Given the description of an element on the screen output the (x, y) to click on. 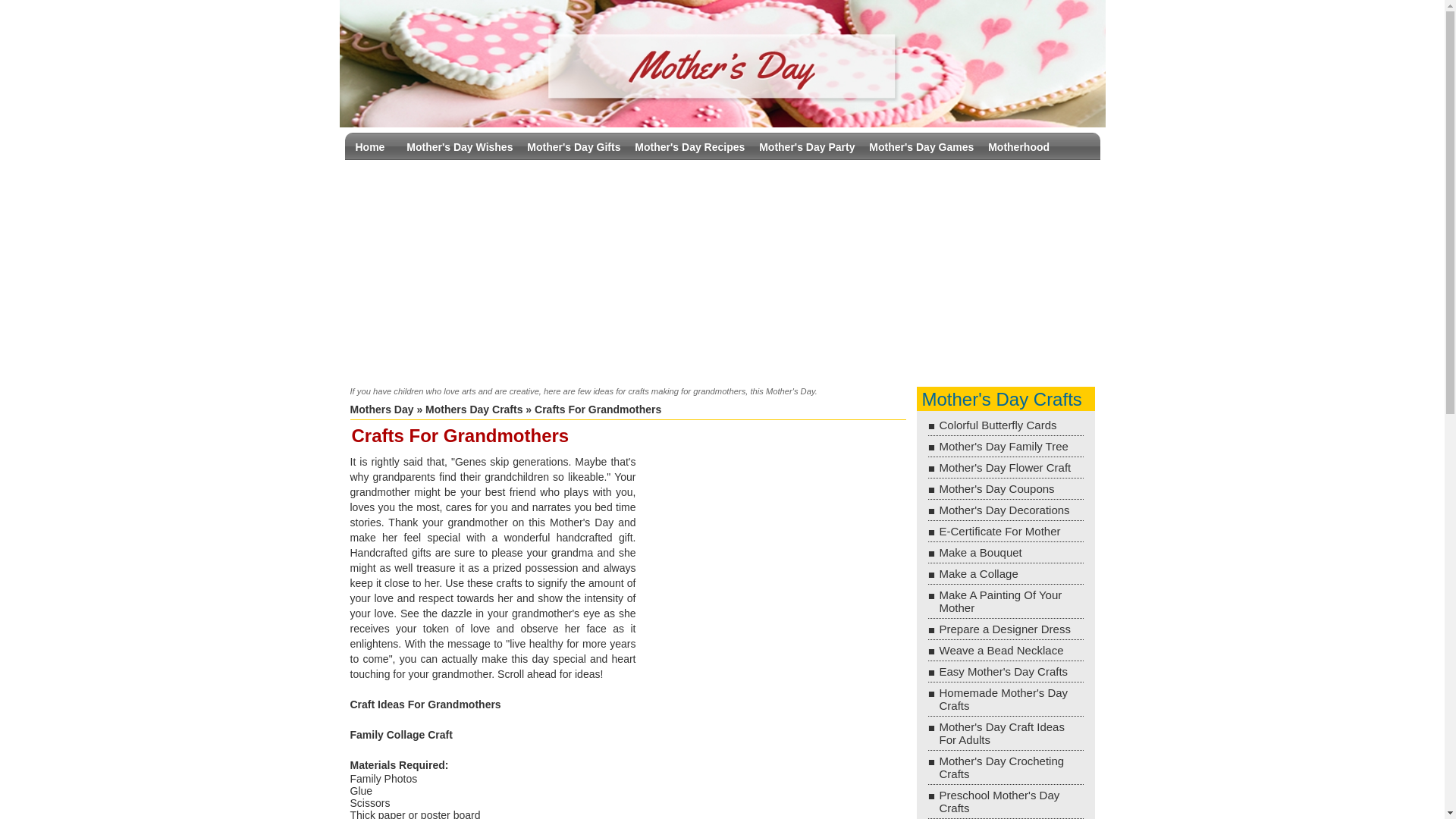
Mother's Day Recipes (688, 147)
Mother's Day Gifts (573, 147)
Home (370, 147)
Mother's Day Wishes (459, 147)
Mothers Day Crafts (473, 409)
Mothers Day (381, 409)
